Given the description of an element on the screen output the (x, y) to click on. 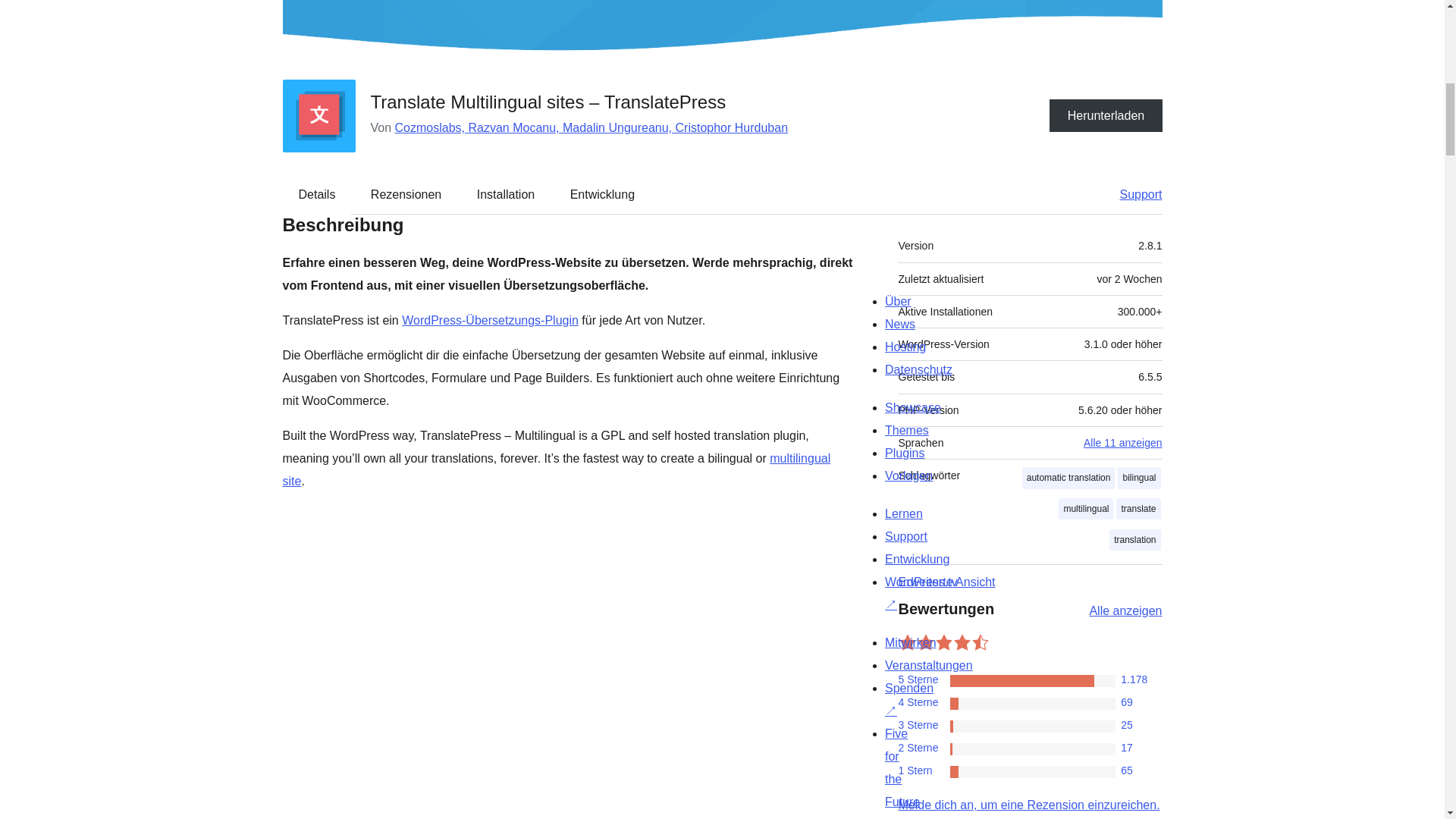
Entwicklung (601, 194)
Rezensionen (406, 194)
multilingual site (555, 469)
Details (316, 194)
Melde dich bei WordPress.org an (1028, 804)
Installation (505, 194)
Support (1132, 194)
Herunterladen (1105, 115)
